Given the description of an element on the screen output the (x, y) to click on. 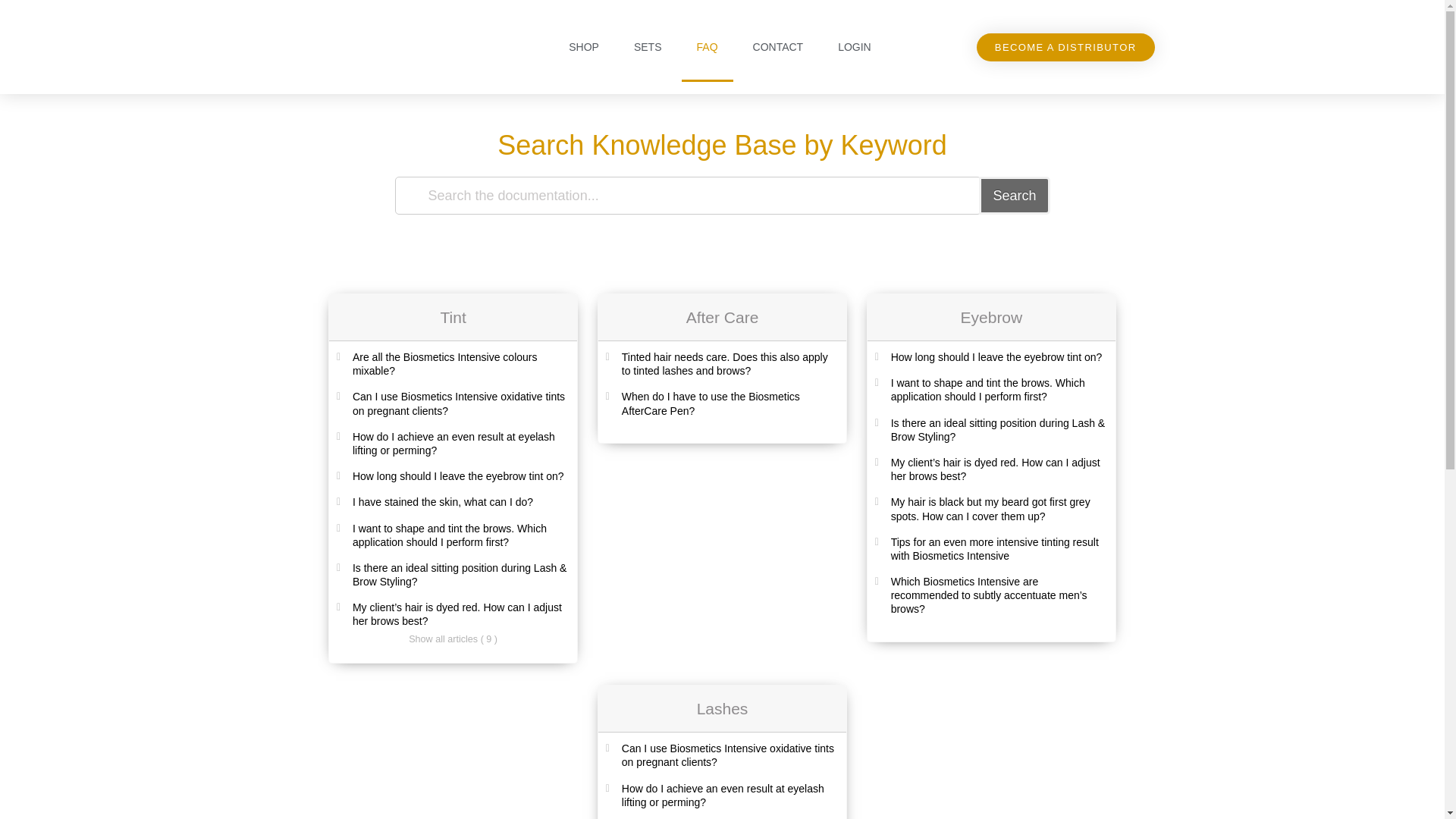
BECOME A DISTRIBUTOR (1065, 47)
Search (1013, 195)
Skip to content (15, 7)
CONTACT (778, 46)
LOGIN (854, 46)
